Given the description of an element on the screen output the (x, y) to click on. 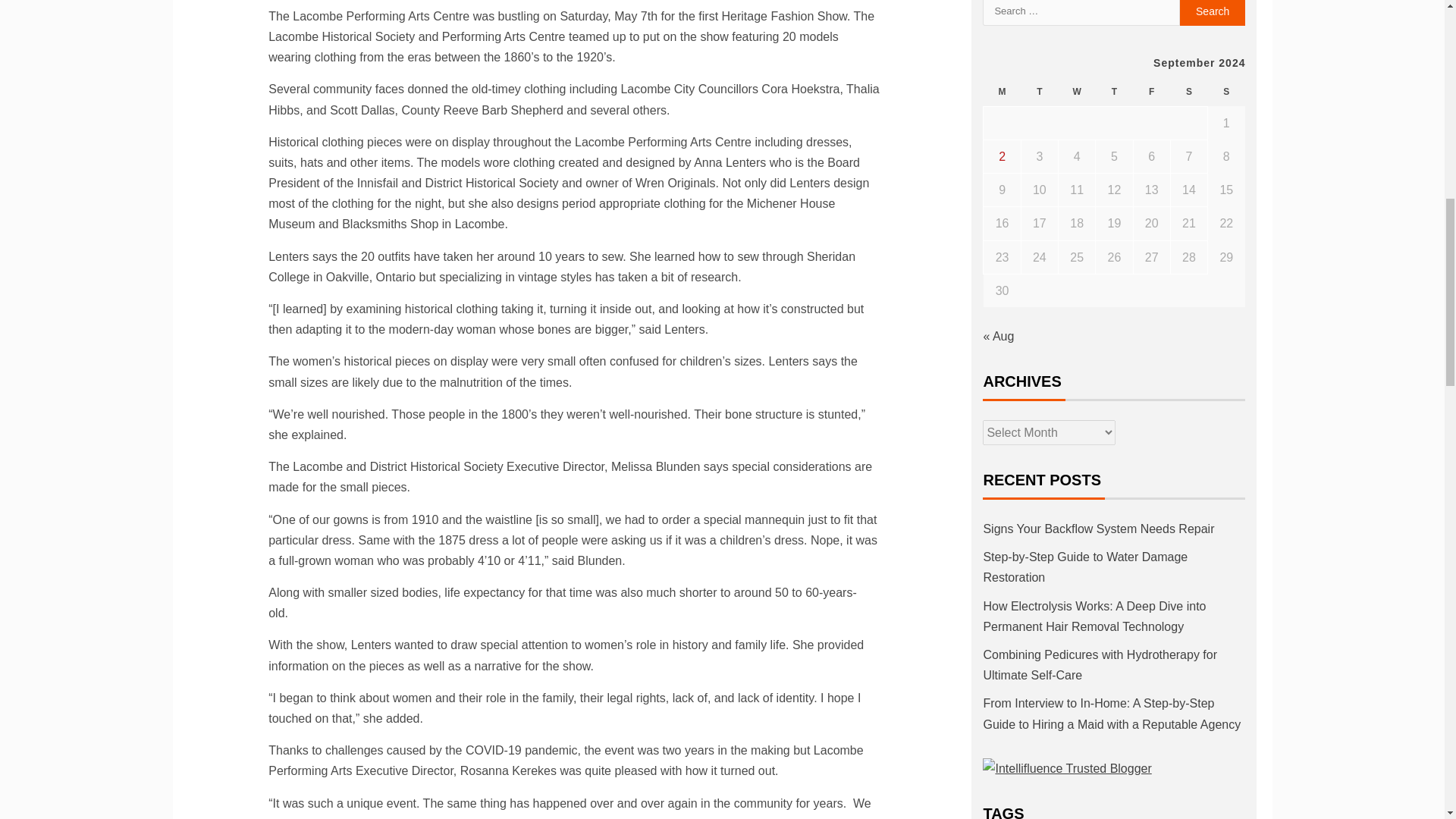
Search (1212, 12)
Monday (1002, 91)
Search (1212, 12)
Wednesday (1077, 91)
Friday (1151, 91)
Tuesday (1039, 91)
Thursday (1114, 91)
